Given the description of an element on the screen output the (x, y) to click on. 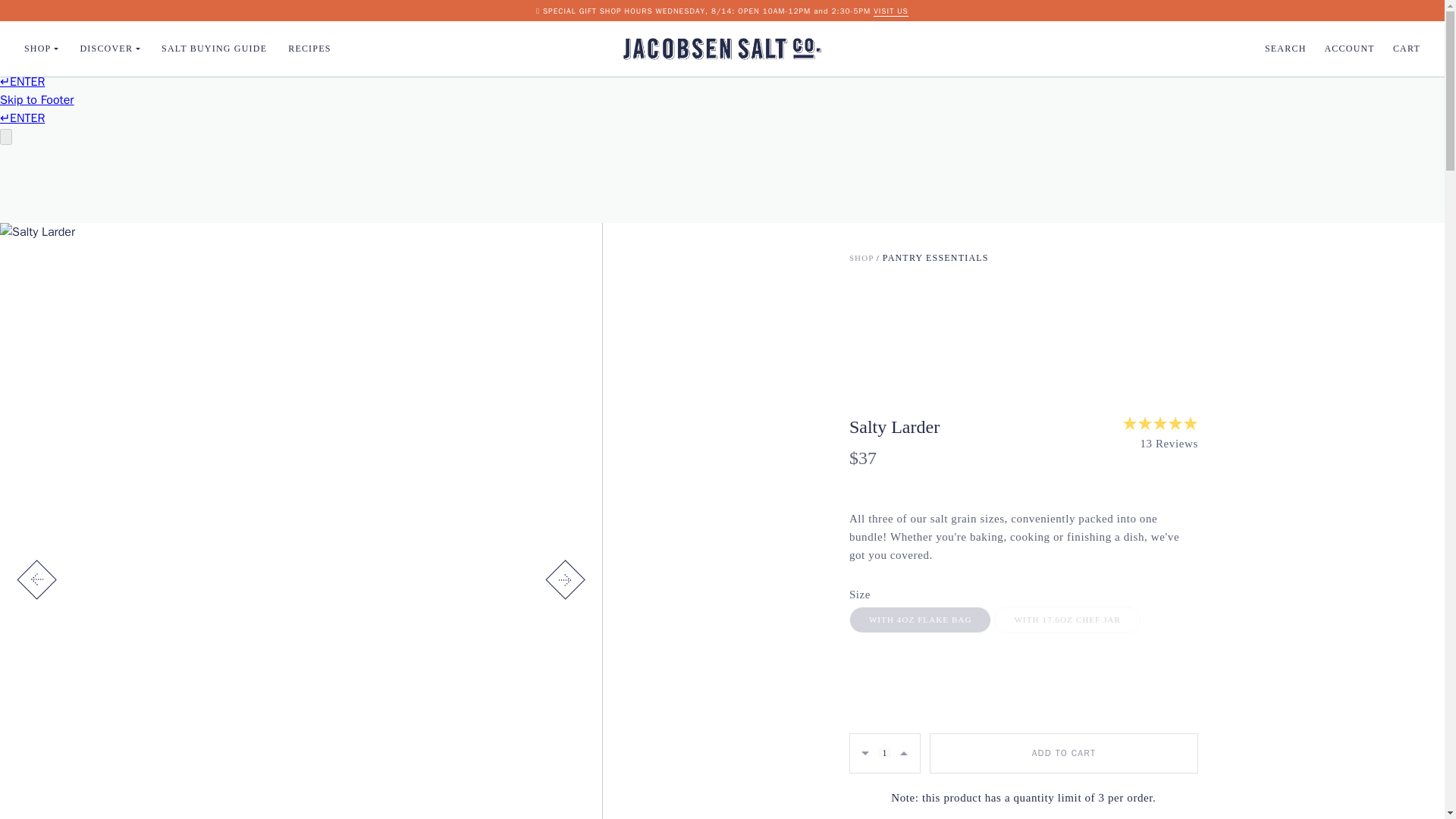
DISCOVER (109, 49)
PANTRY ESSENTIALS (935, 257)
1 (884, 753)
With 4oz Flake Bag (919, 619)
CART (1407, 49)
SALT BUYING GUIDE (213, 49)
WITH 17.6OZ CHEF JAR (1067, 619)
WITH 4OZ FLAKE BAG (919, 619)
13 Reviews (1160, 443)
Increase quantity for Salty Larder (904, 753)
